Given the description of an element on the screen output the (x, y) to click on. 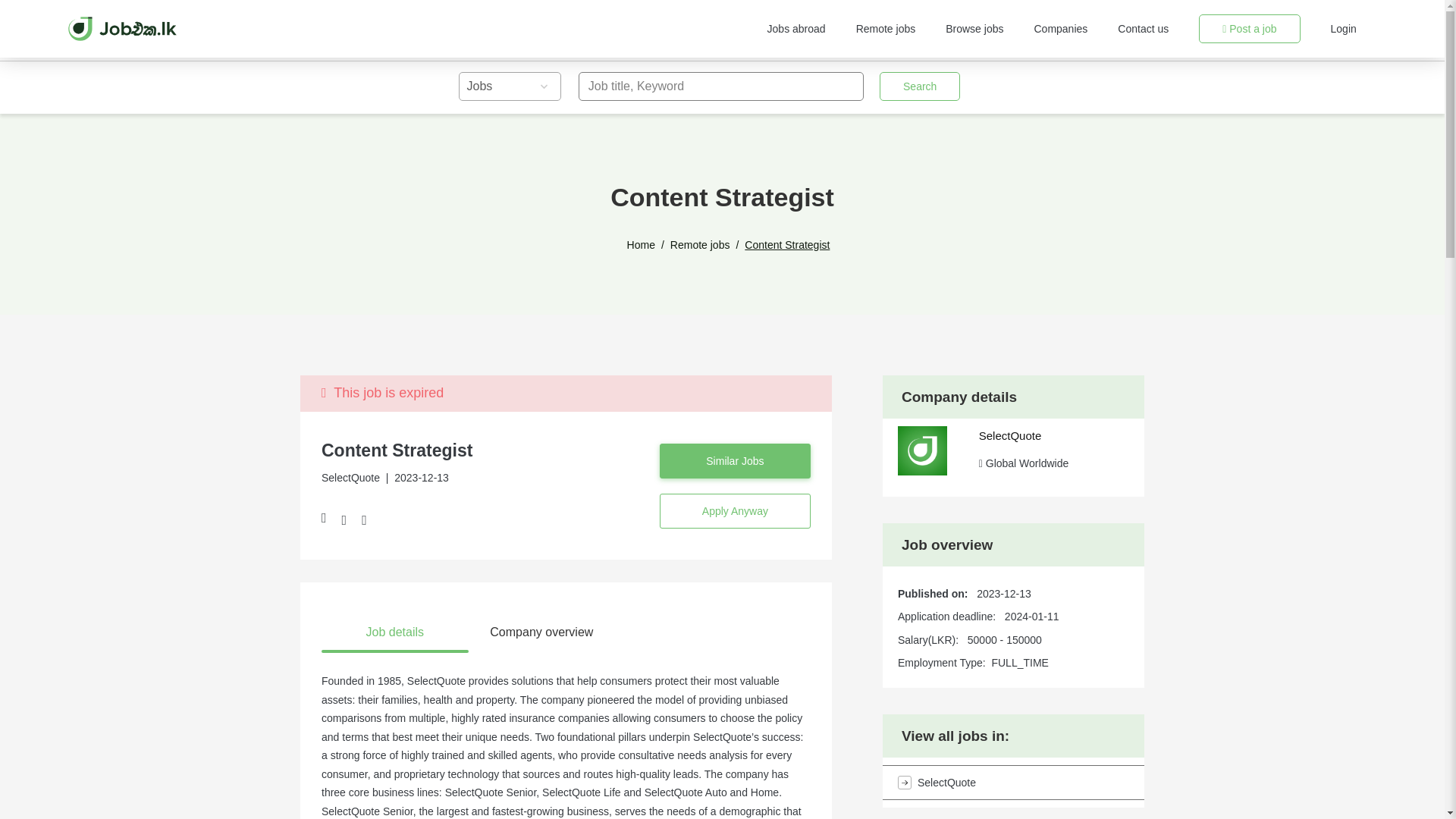
Contact us (1143, 28)
Remote jobs (885, 28)
Home (641, 244)
Post a job (1249, 28)
Login (1343, 28)
Search (919, 86)
Browse jobs (973, 28)
Jobs abroad (796, 28)
Job details (394, 632)
Remote jobs (699, 244)
